Given the description of an element on the screen output the (x, y) to click on. 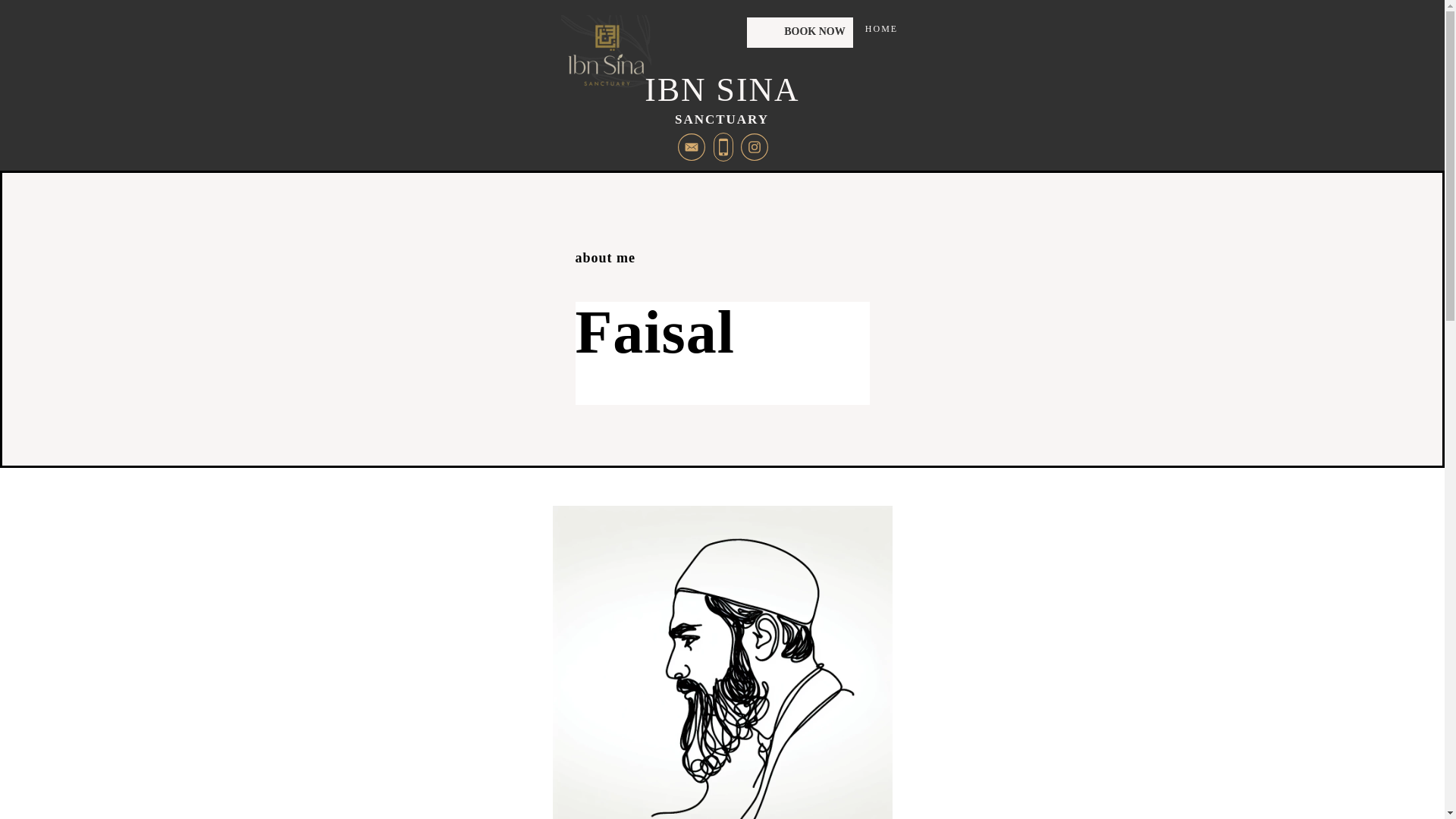
BOOK NOW (798, 32)
jean philippe delberghe xrjusFfOksI unsplash (721, 662)
HOME (721, 99)
